Given the description of an element on the screen output the (x, y) to click on. 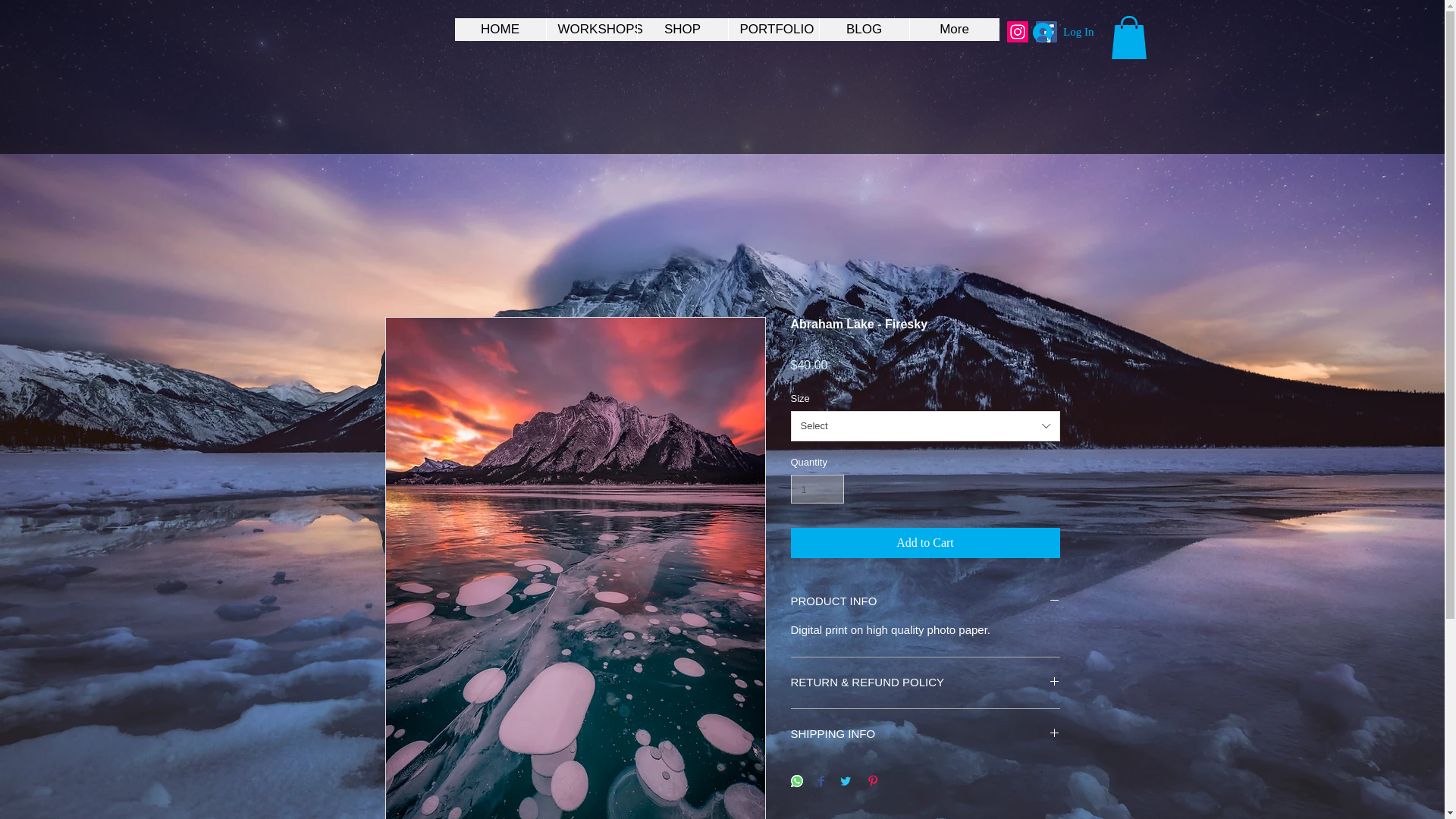
Select (924, 426)
Add to Cart (924, 542)
WORKSHOPS (591, 29)
SHIPPING INFO (924, 734)
HOME (500, 29)
Log In (1062, 32)
PORTFOLIO (773, 29)
PRODUCT INFO (924, 601)
SHOP (682, 29)
1 (817, 489)
BLOG (863, 29)
